Given the description of an element on the screen output the (x, y) to click on. 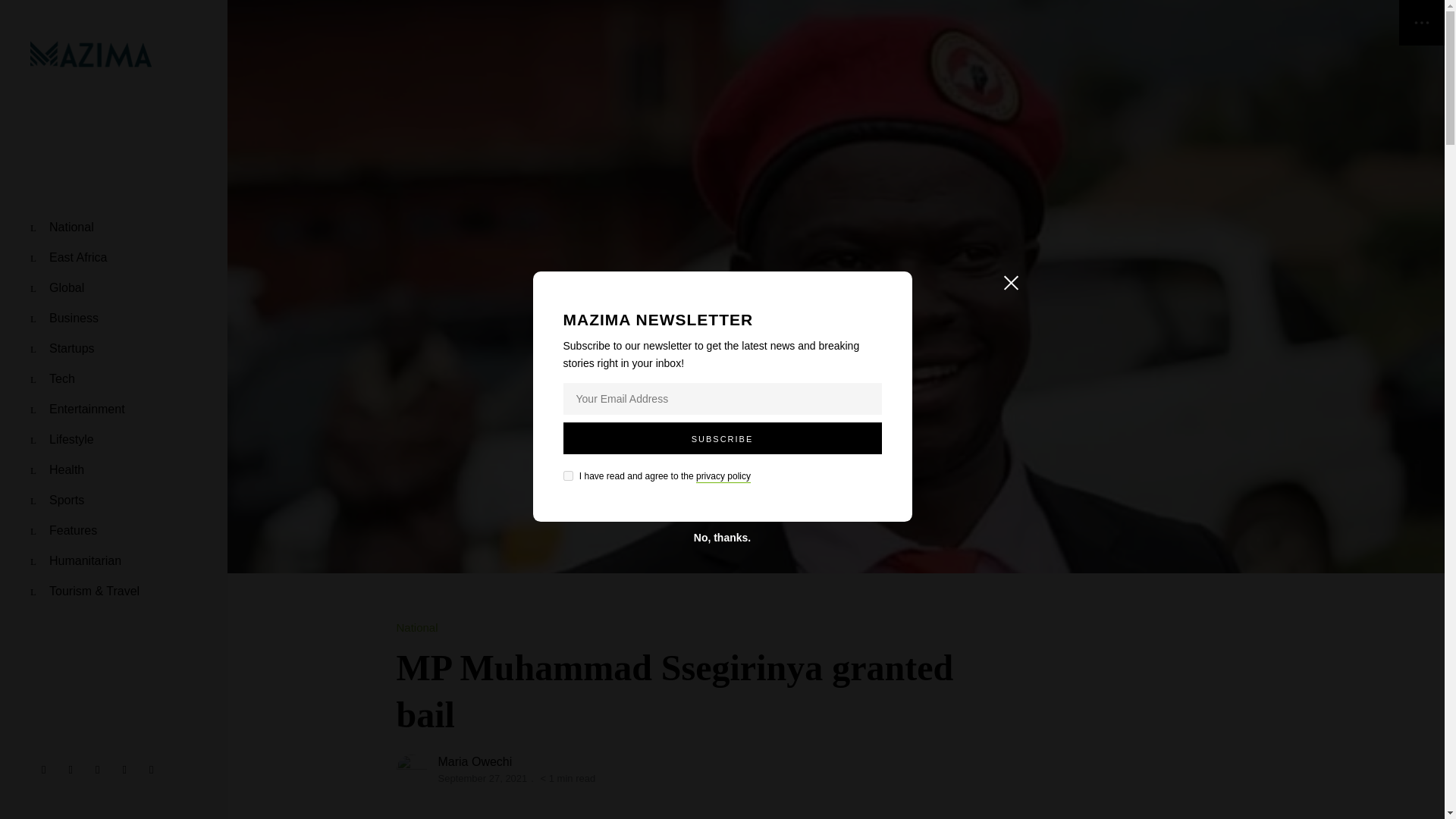
Humanitarian (75, 561)
Lifestyle (62, 440)
Health (57, 470)
National (417, 628)
1 (567, 475)
Global (57, 287)
Business (64, 318)
Sports (57, 500)
Startups (62, 348)
Subscribe (721, 438)
National (62, 227)
Entertainment (77, 409)
Tech (52, 378)
Twitter (69, 769)
Telegram (151, 769)
